Given the description of an element on the screen output the (x, y) to click on. 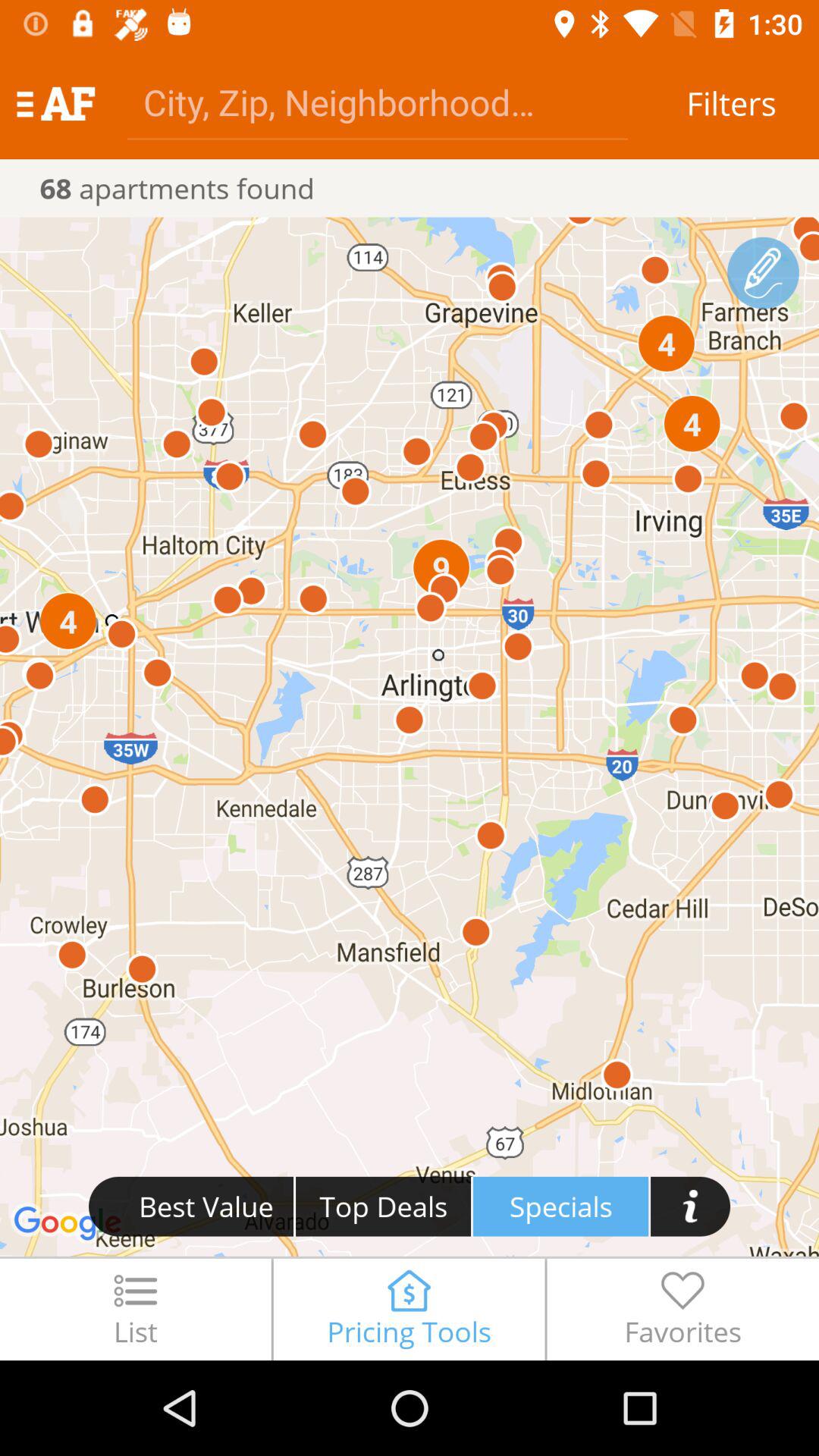
farmer branch (763, 272)
